Given the description of an element on the screen output the (x, y) to click on. 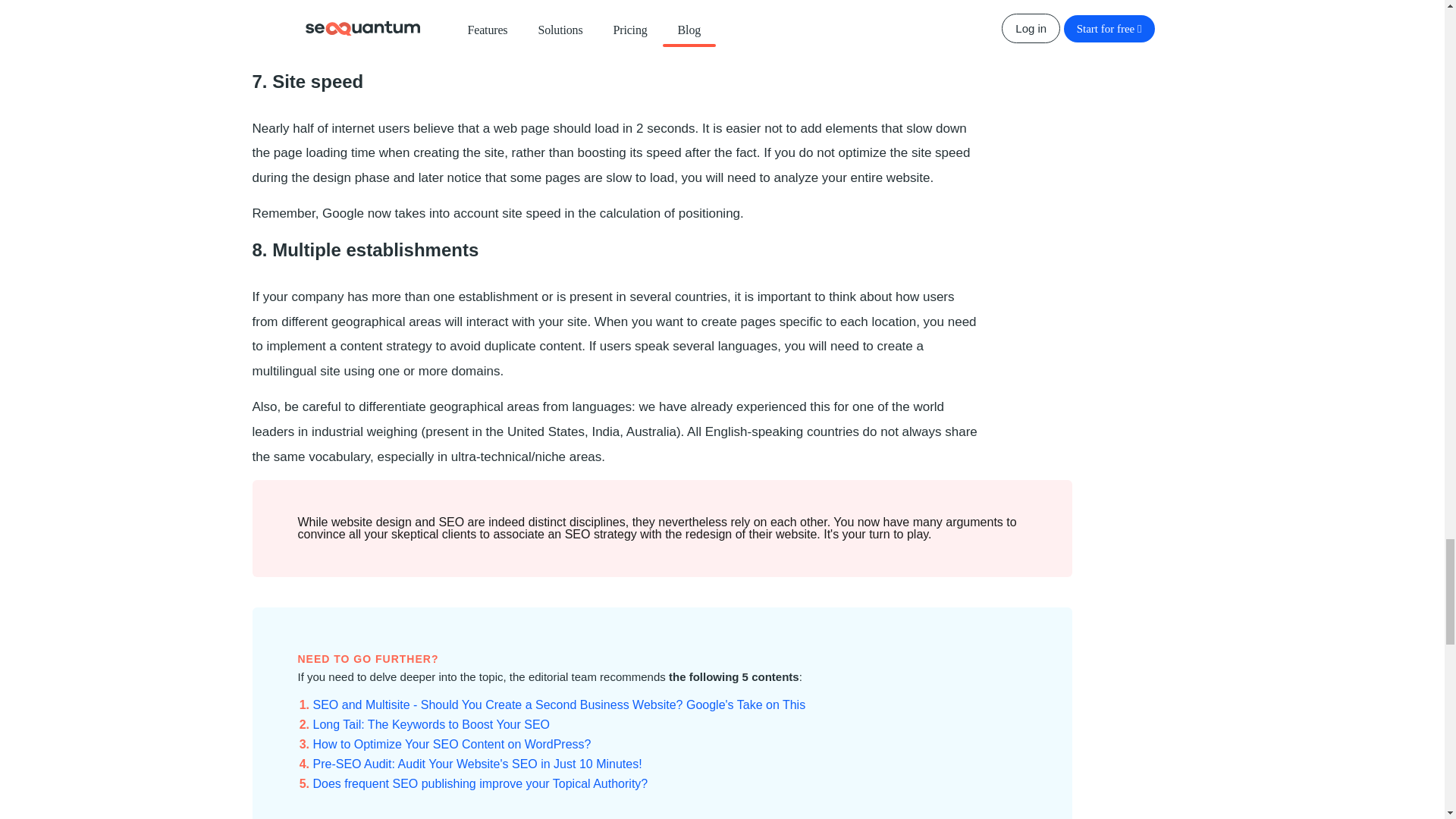
Does frequent SEO publishing improve your Topical Authority? (480, 783)
Long Tail: The Keywords to Boost Your SEO (431, 724)
Pre-SEO Audit: Audit Your Website's SEO in Just 10 Minutes! (477, 763)
How to Optimize Your SEO Content on WordPress? (452, 744)
